Given the description of an element on the screen output the (x, y) to click on. 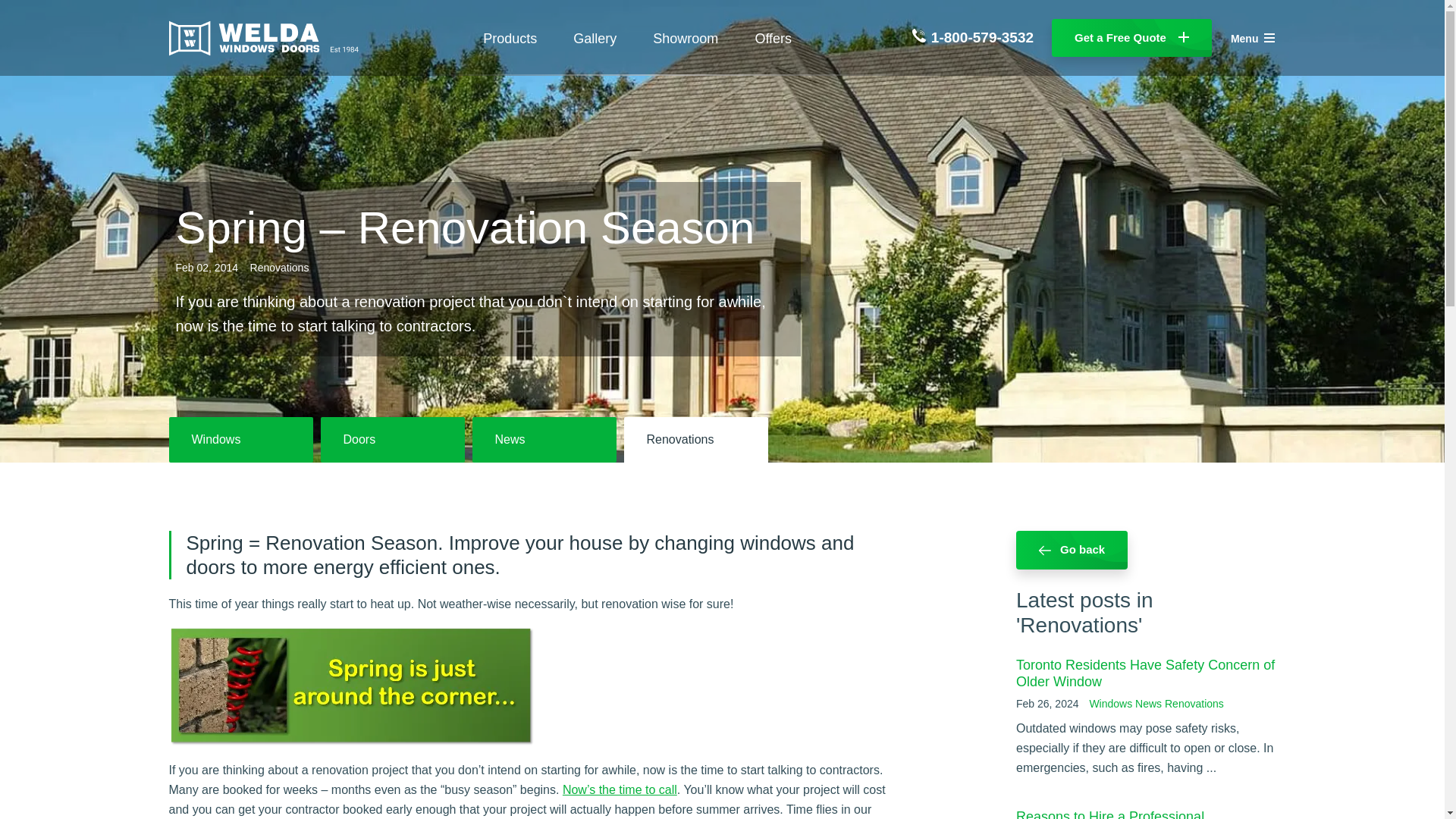
Showroom (684, 38)
Offers (773, 38)
Gallery (594, 38)
Products (510, 38)
1-800-579-3532 (972, 38)
Menu (1253, 37)
Get a Free Quote (1131, 37)
